Given the description of an element on the screen output the (x, y) to click on. 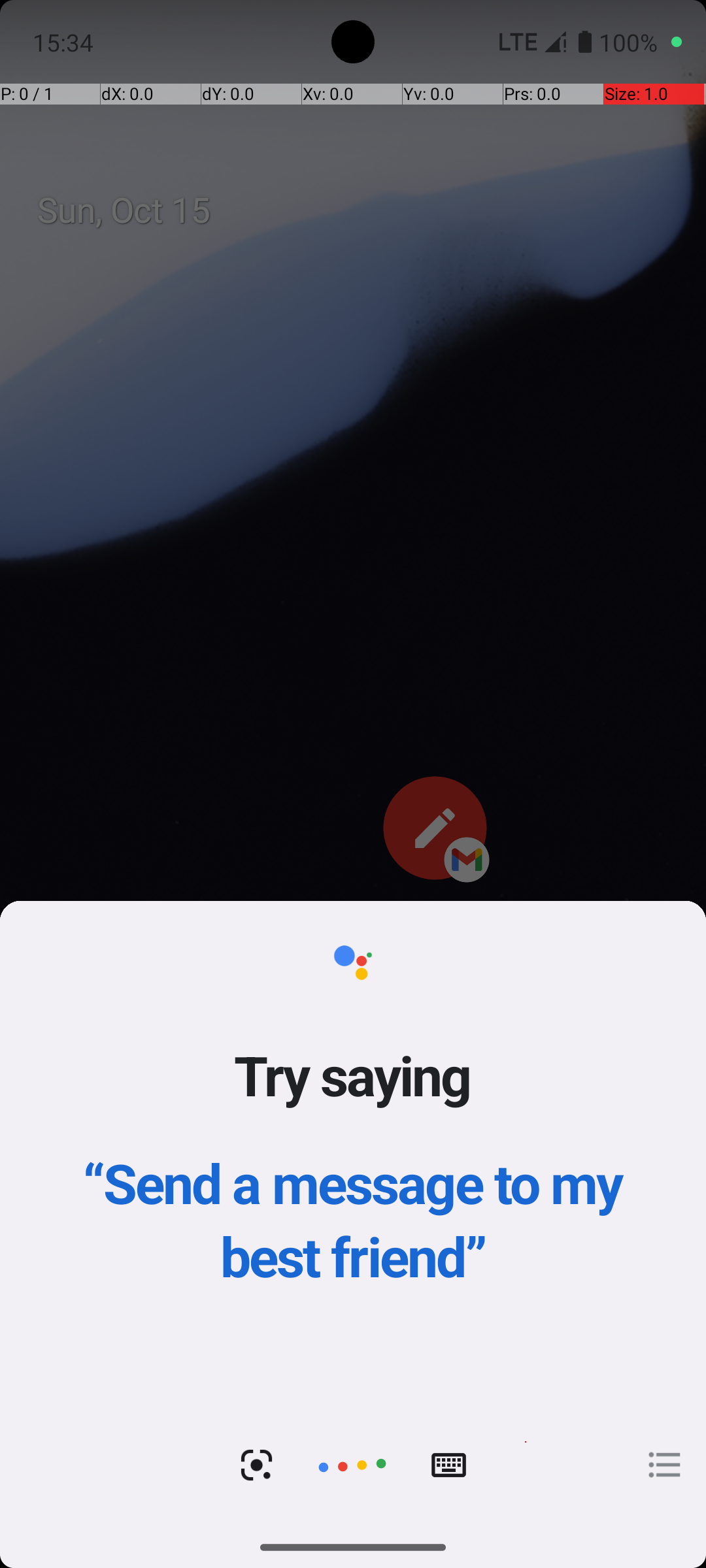
Tap to dismiss Assistant Element type: android.view.ViewGroup (353, 804)
Google Assistant widget. Element type: android.support.v7.widget.RecyclerView (353, 1213)
Google Assistant greeting container. Element type: android.widget.LinearLayout (353, 1151)
Tap to cancel Element type: android.view.View (351, 1465)
Type mode Element type: android.widget.ImageView (448, 1465)
Google Assistant greeting. Element type: android.widget.FrameLayout (353, 1213)
Open explore page Element type: android.widget.ImageView (664, 1464)
Try saying Element type: android.widget.TextView (352, 1074)
“Send a message to my best friend” Element type: android.widget.TextView (352, 1218)
